Given the description of an element on the screen output the (x, y) to click on. 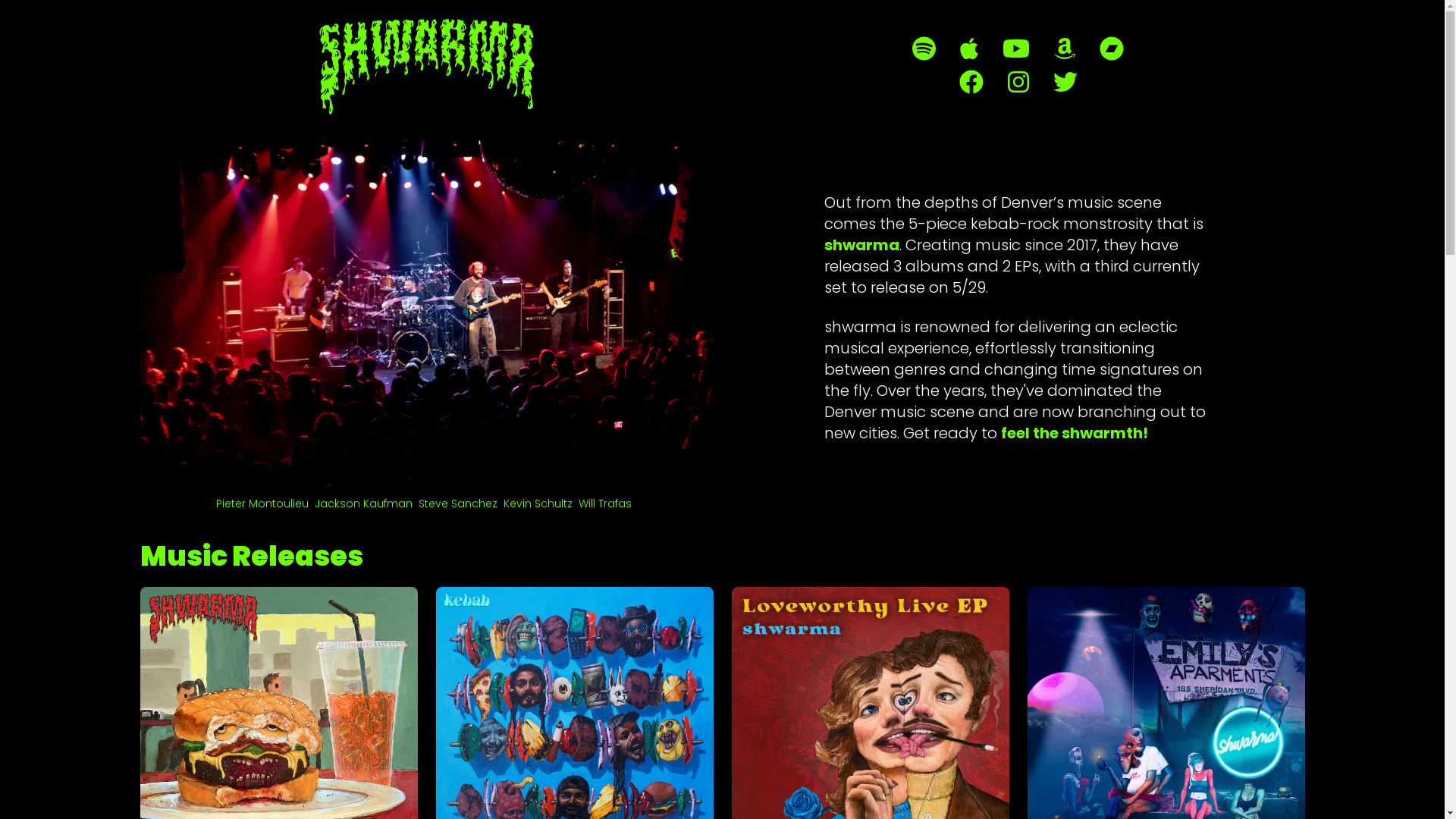
Bandcamp Element type: hover (1111, 48)
Instagram Element type: hover (1017, 81)
Spotify Element type: hover (923, 48)
Apple Music Element type: hover (969, 48)
Facebook Element type: hover (970, 81)
Youtube Music Element type: hover (1015, 48)
Twitter Element type: hover (1064, 81)
Amazon Music Element type: hover (1064, 48)
